Given the description of an element on the screen output the (x, y) to click on. 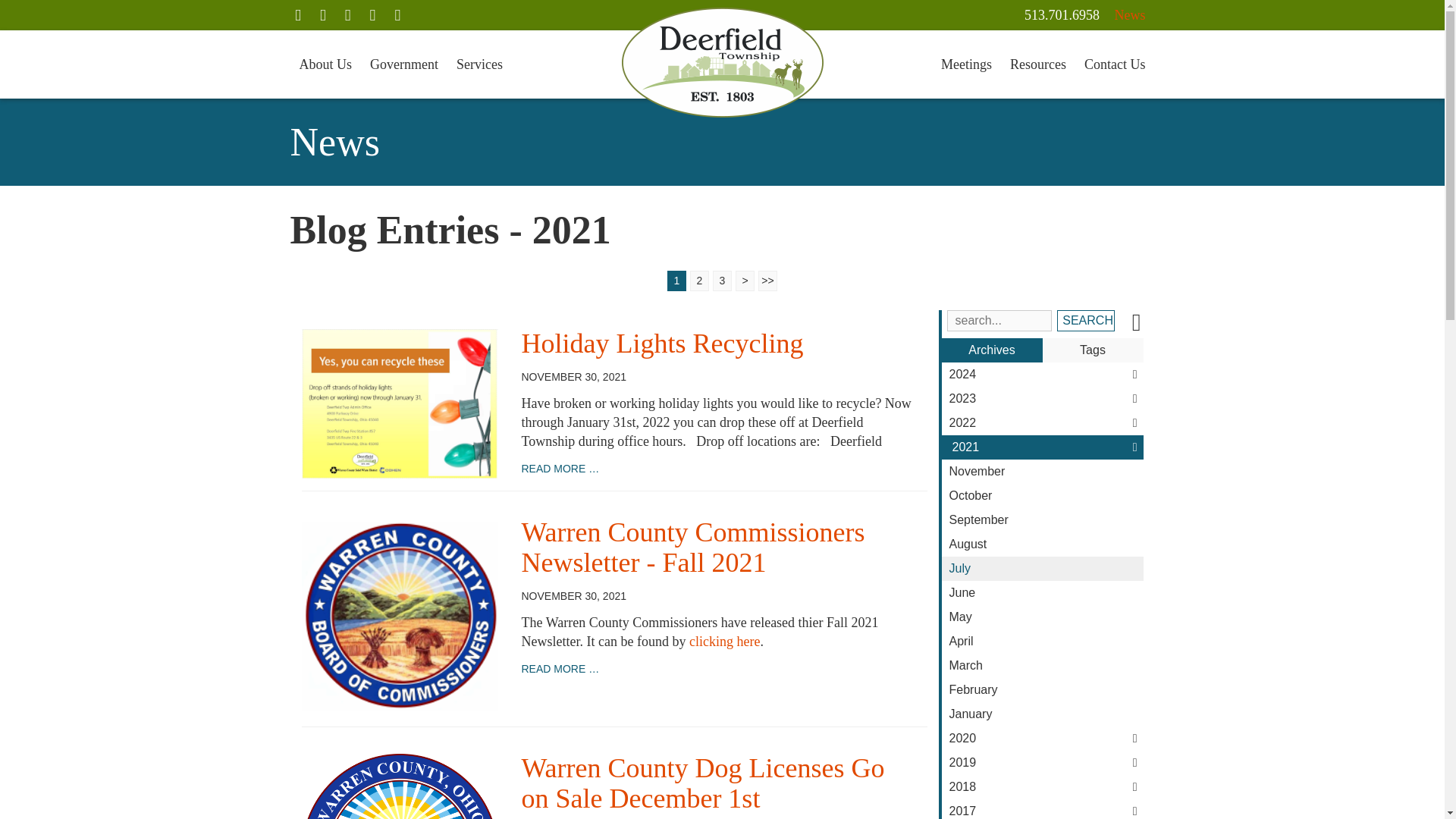
Government (403, 64)
visit our facebook page (297, 15)
visit our YouTube page (398, 15)
visit our LinkedIn page (372, 15)
visit our Instagram page (347, 15)
visit our facebook page (297, 15)
visit our LinkedIn page (372, 15)
513.701.6958 (1062, 15)
News (1129, 15)
visit our Instagram page (347, 15)
visit our YouTube page (398, 15)
Search (1085, 320)
visit our twitter page (322, 15)
About Us (325, 64)
visit our twitter page (322, 15)
